Given the description of an element on the screen output the (x, y) to click on. 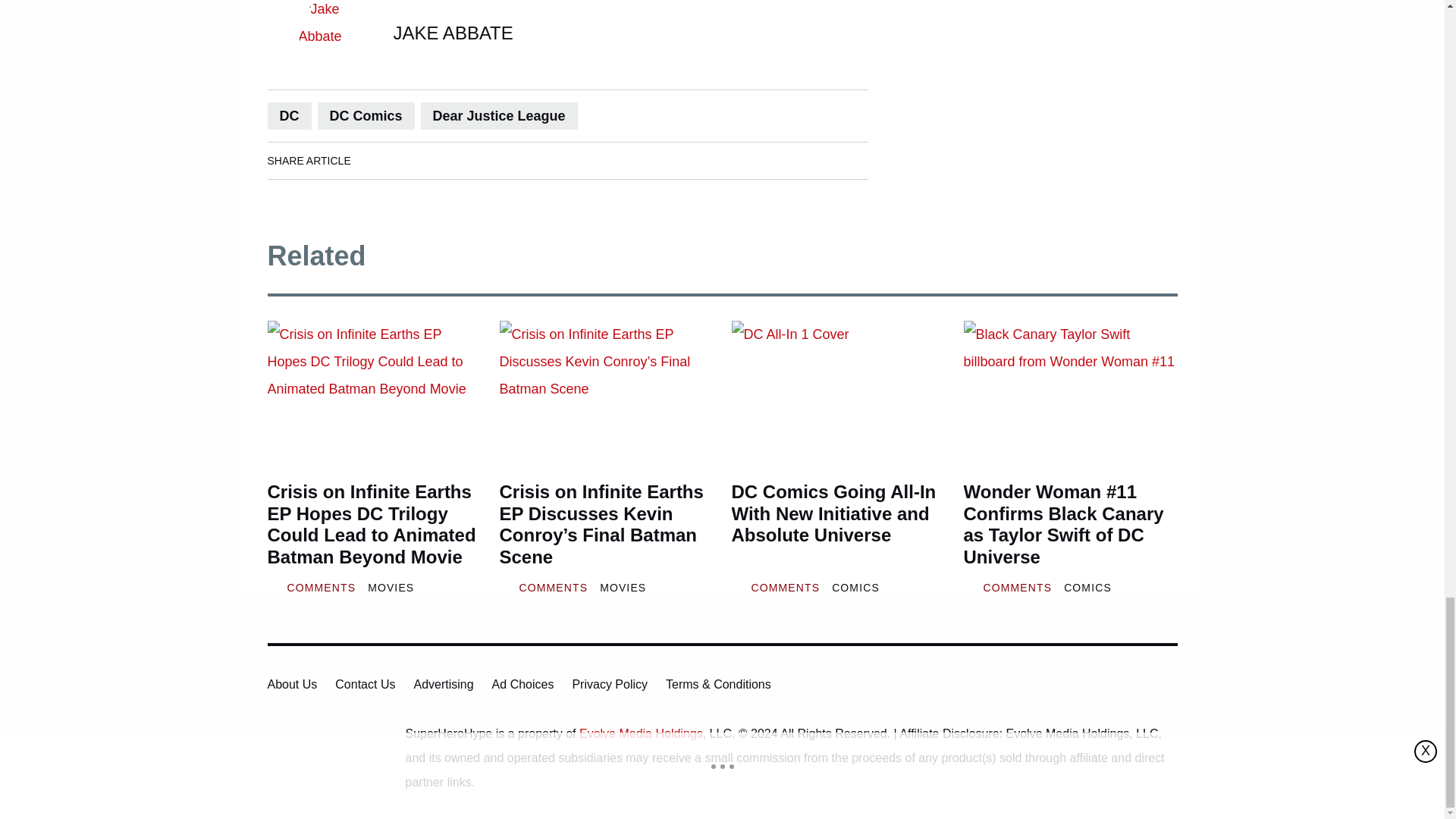
JAKE ABBATE (452, 32)
Pinterest (505, 160)
Twitter (463, 160)
LinkedIn (420, 160)
DC (288, 115)
DC Comics (365, 115)
Facebook (377, 160)
